Given the description of an element on the screen output the (x, y) to click on. 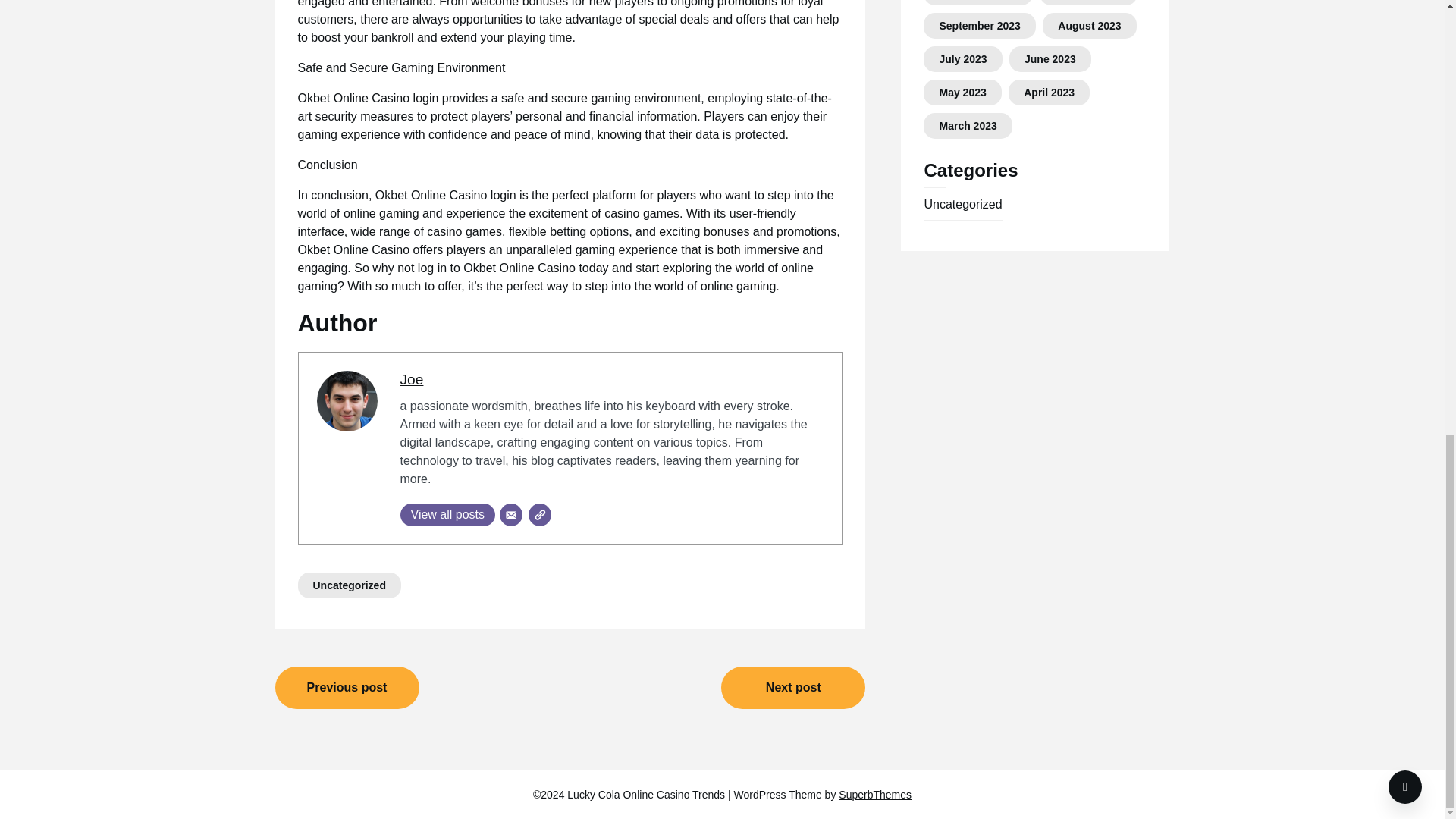
Previous post (347, 687)
Uncategorized (348, 585)
Next post (792, 687)
View all posts (448, 514)
Joe (411, 379)
Joe (411, 379)
August 2023 (1089, 25)
View all posts (448, 514)
September 2023 (979, 25)
